Given the description of an element on the screen output the (x, y) to click on. 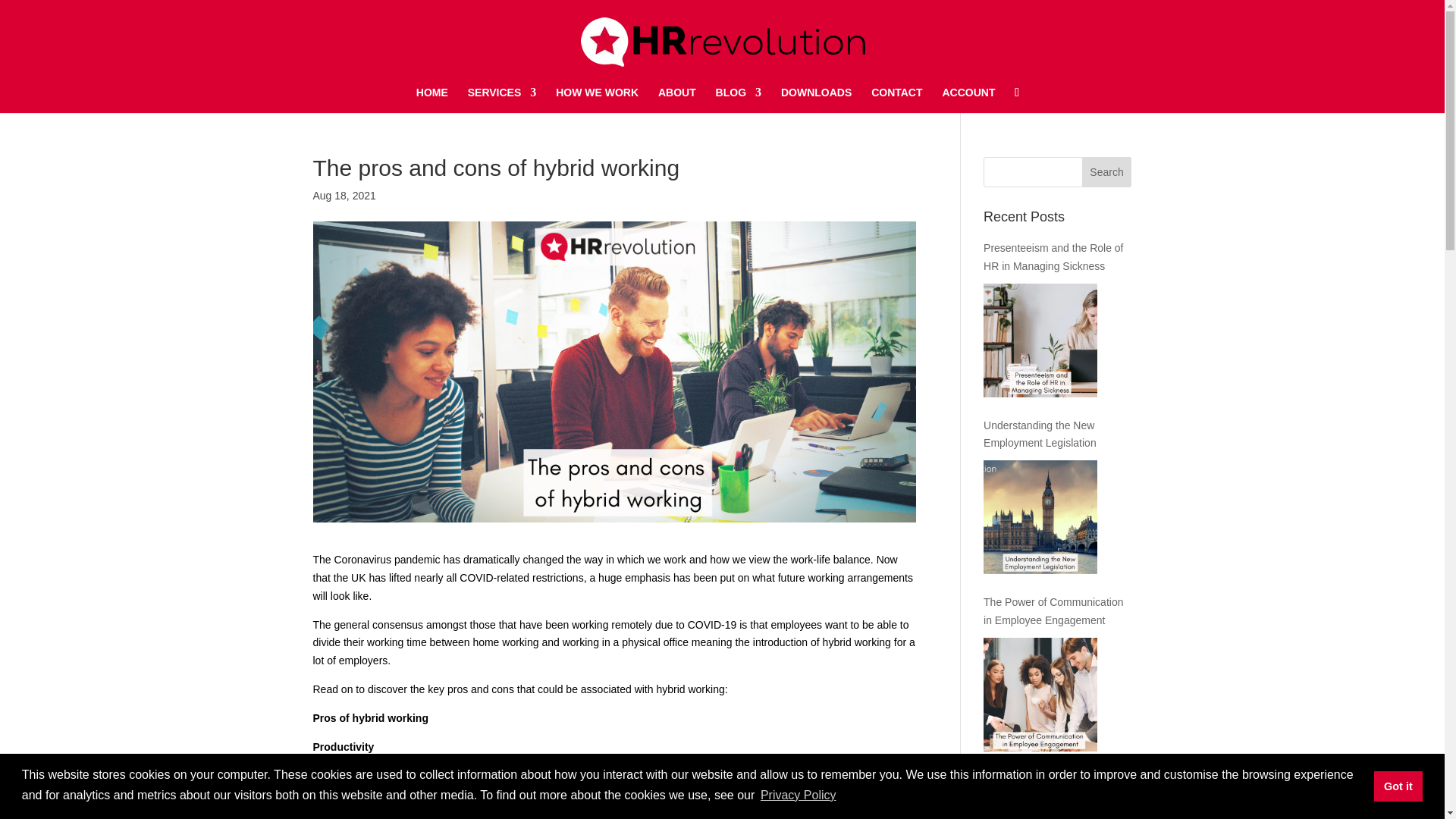
DOWNLOADS (815, 99)
CONTACT (895, 99)
Search (1106, 172)
SERVICES (502, 99)
ABOUT (676, 99)
Search (1106, 172)
HOME (432, 99)
Presenteeism and the Role of HR in Managing Sickness (1040, 340)
BLOG (738, 99)
ACCOUNT (968, 99)
